Given the description of an element on the screen output the (x, y) to click on. 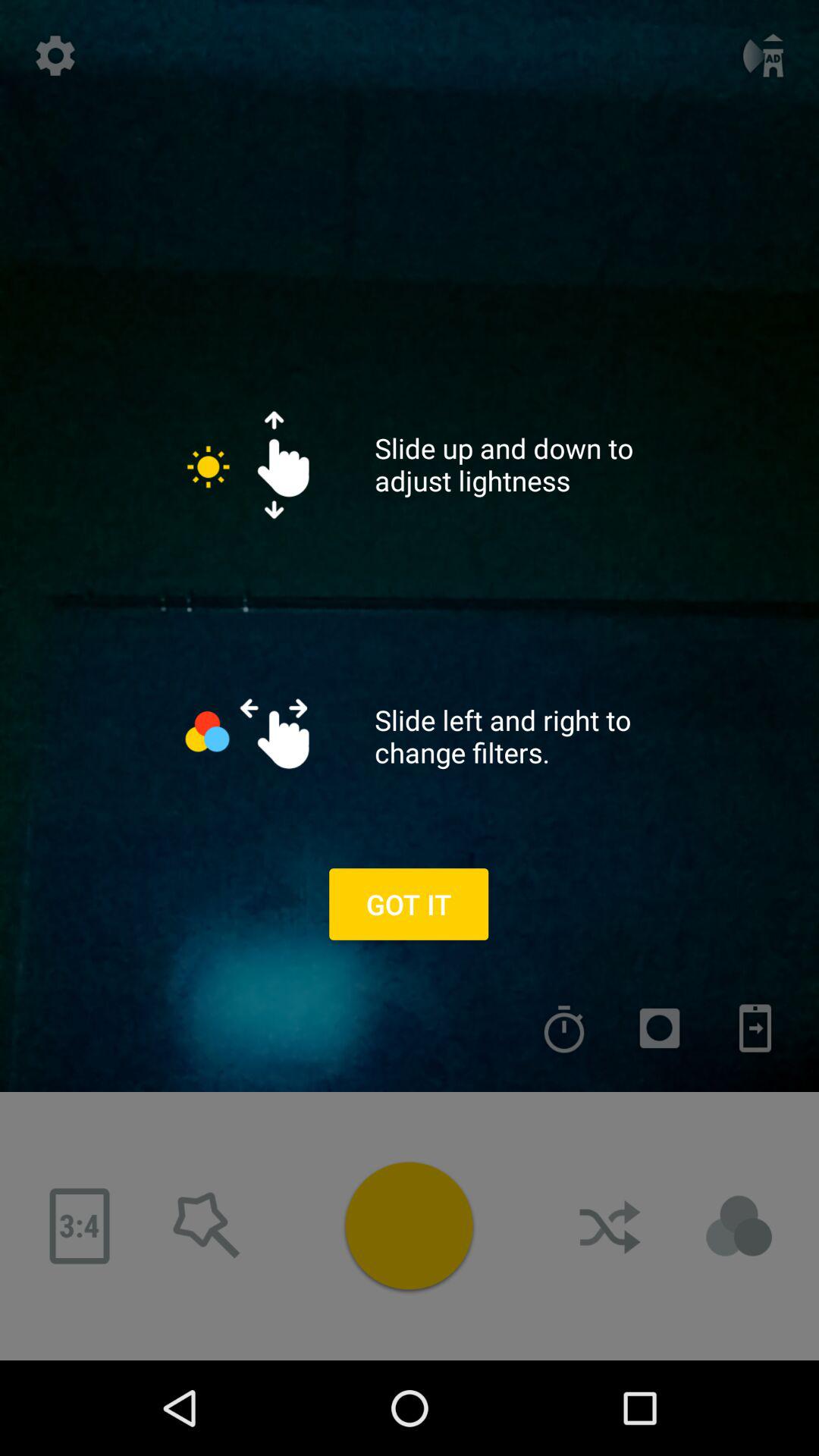
timer option (563, 1028)
